Given the description of an element on the screen output the (x, y) to click on. 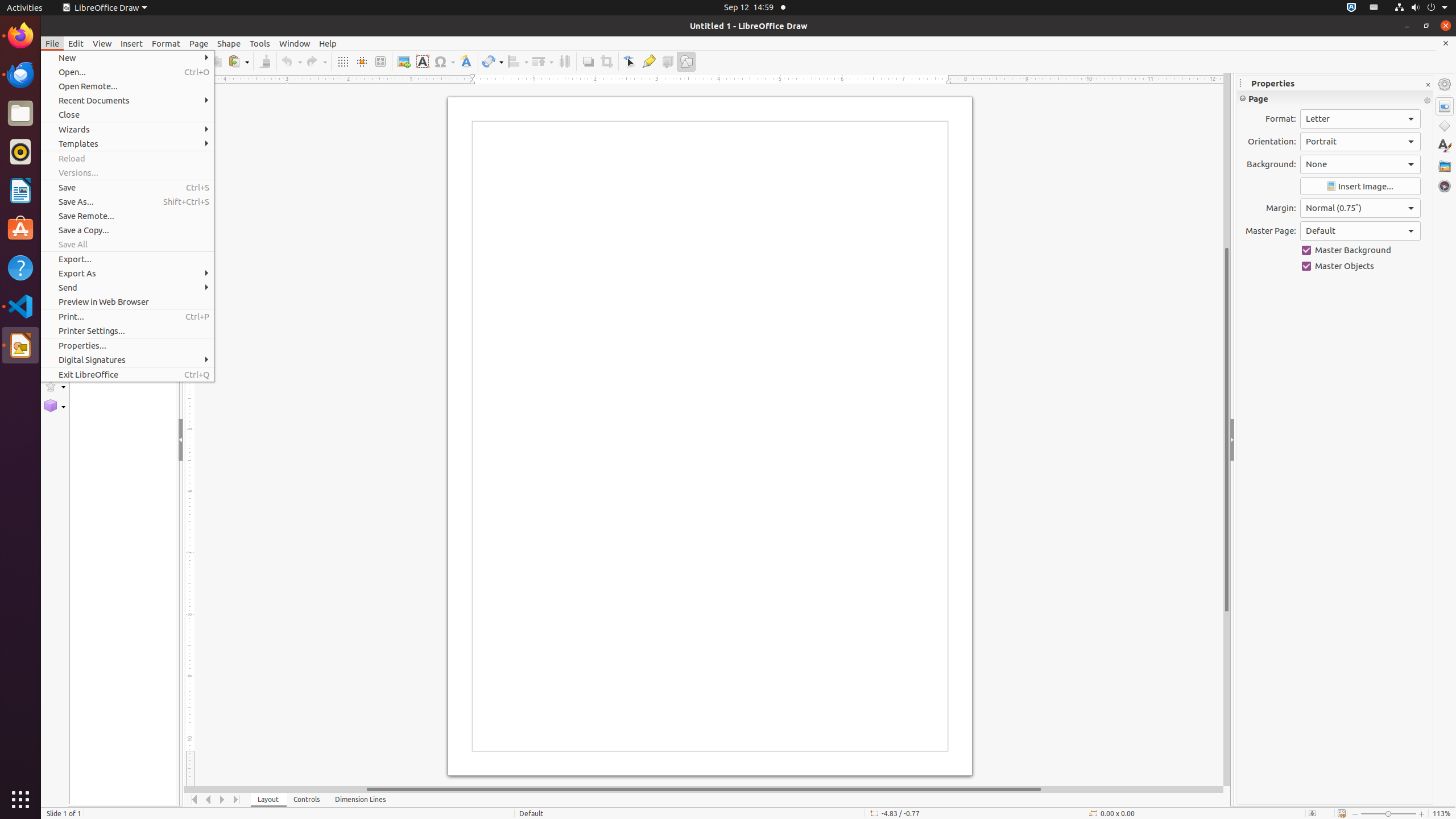
Properties... Element type: menu-item (127, 345)
Send Element type: menu (127, 287)
Move To End Element type: push-button (236, 799)
Clone Element type: push-button (264, 61)
Fontwork Style Element type: toggle-button (465, 61)
